Given the description of an element on the screen output the (x, y) to click on. 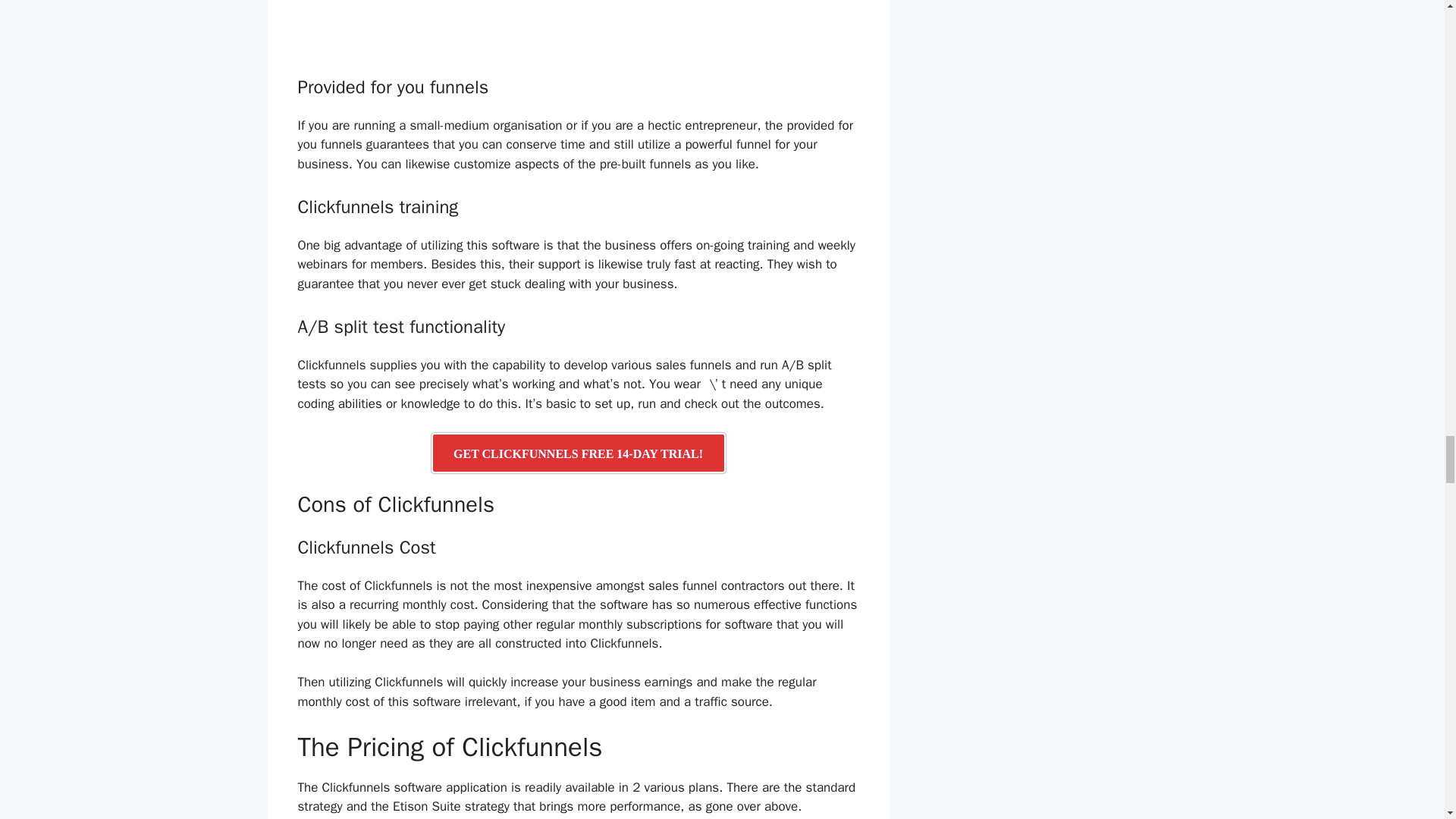
GET CLICKFUNNELS FREE 14-DAY TRIAL! (577, 453)
